Given the description of an element on the screen output the (x, y) to click on. 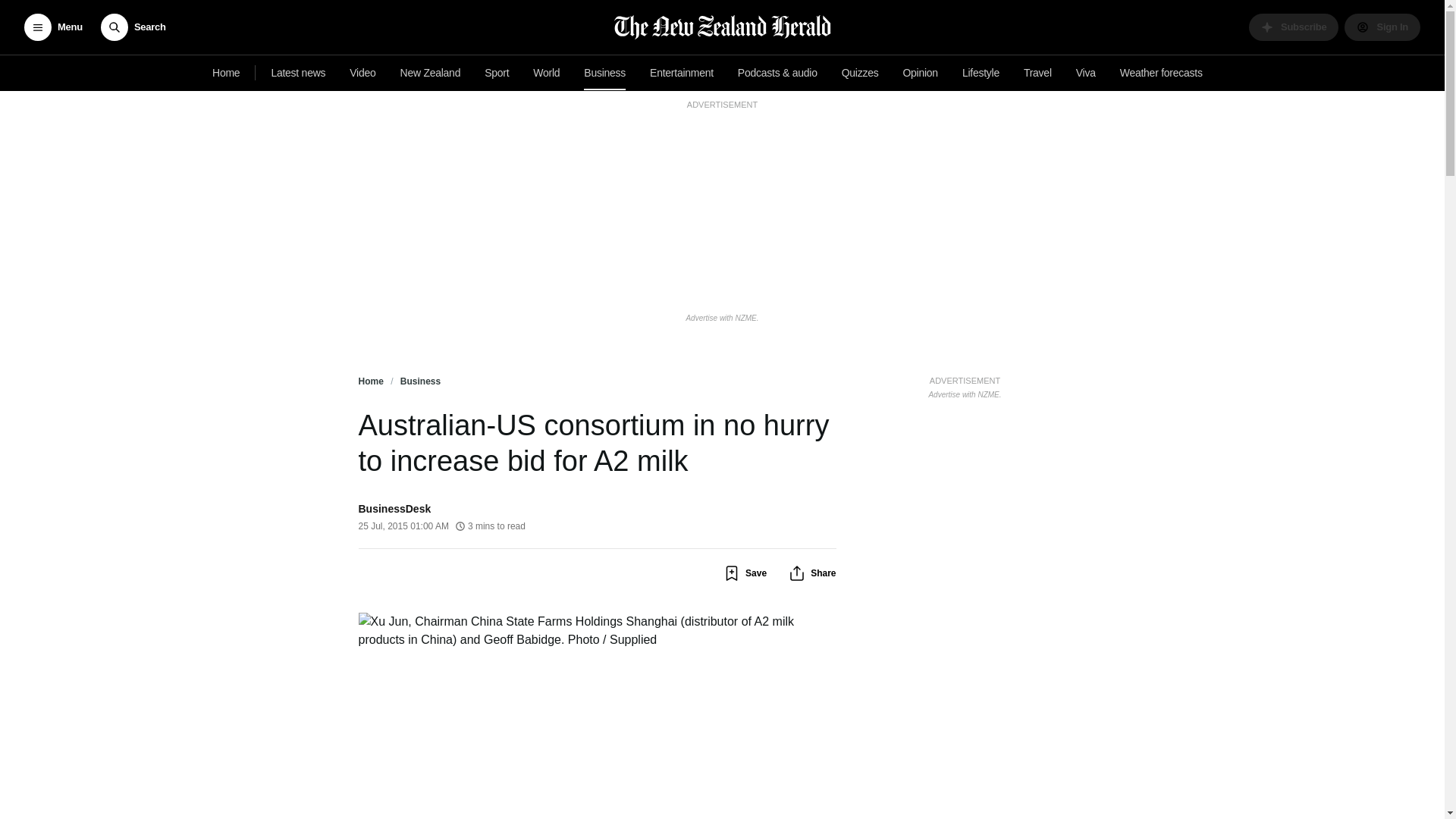
Manage your account (1382, 26)
Opinion (919, 72)
Sign In (1382, 26)
Weather forecasts (1160, 72)
Entertainment (681, 72)
Viva (1086, 72)
Search (132, 26)
Lifestyle (981, 72)
Menu (53, 26)
Home (225, 72)
